Given the description of an element on the screen output the (x, y) to click on. 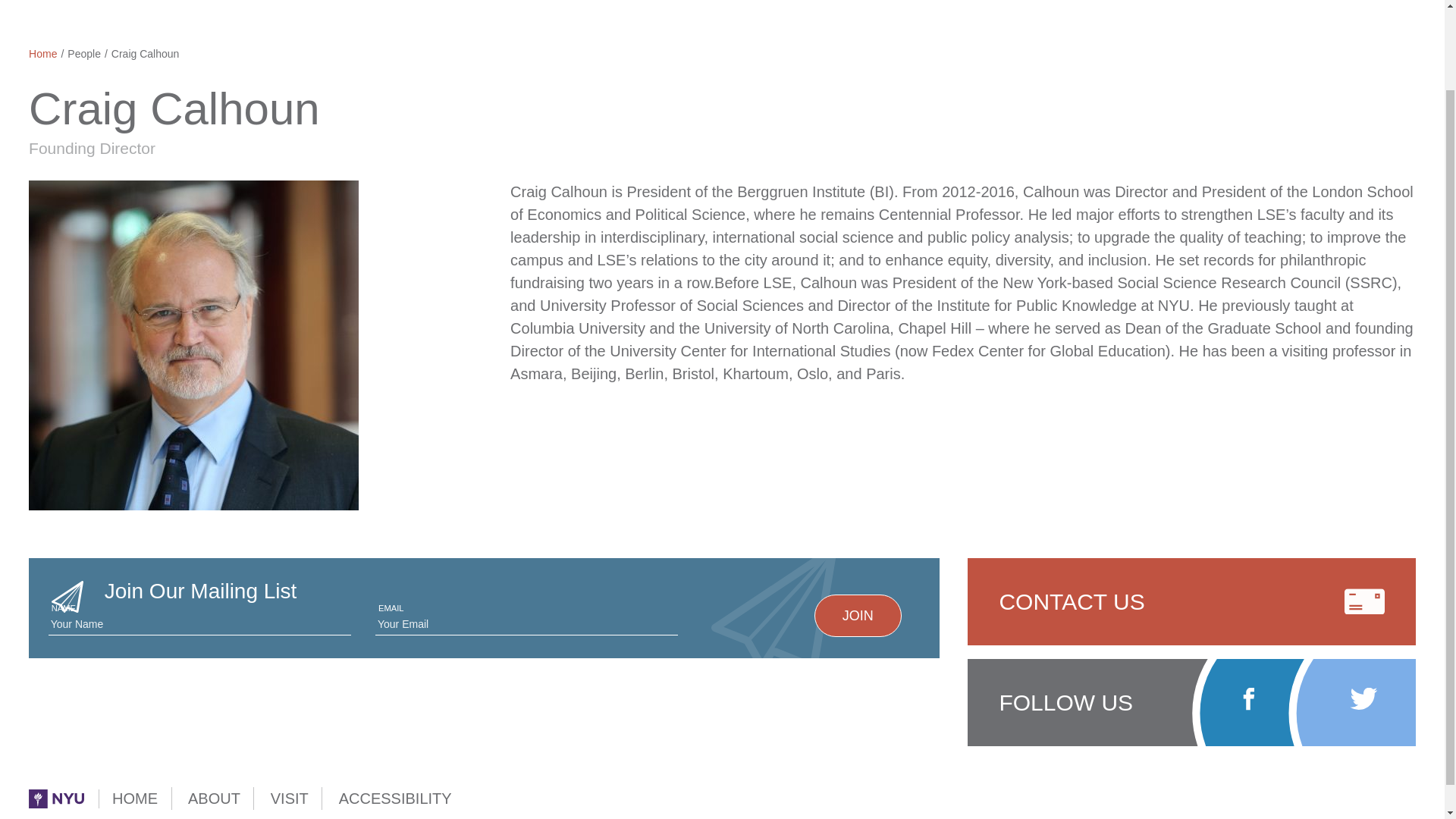
Home (42, 53)
Follow Us on Facebook (1248, 698)
ABOUT (213, 798)
JOIN (857, 614)
NYU (56, 798)
People (83, 53)
Follow Us on Twitter (1364, 698)
HOME (134, 798)
CONTACT US (1191, 600)
